Given the description of an element on the screen output the (x, y) to click on. 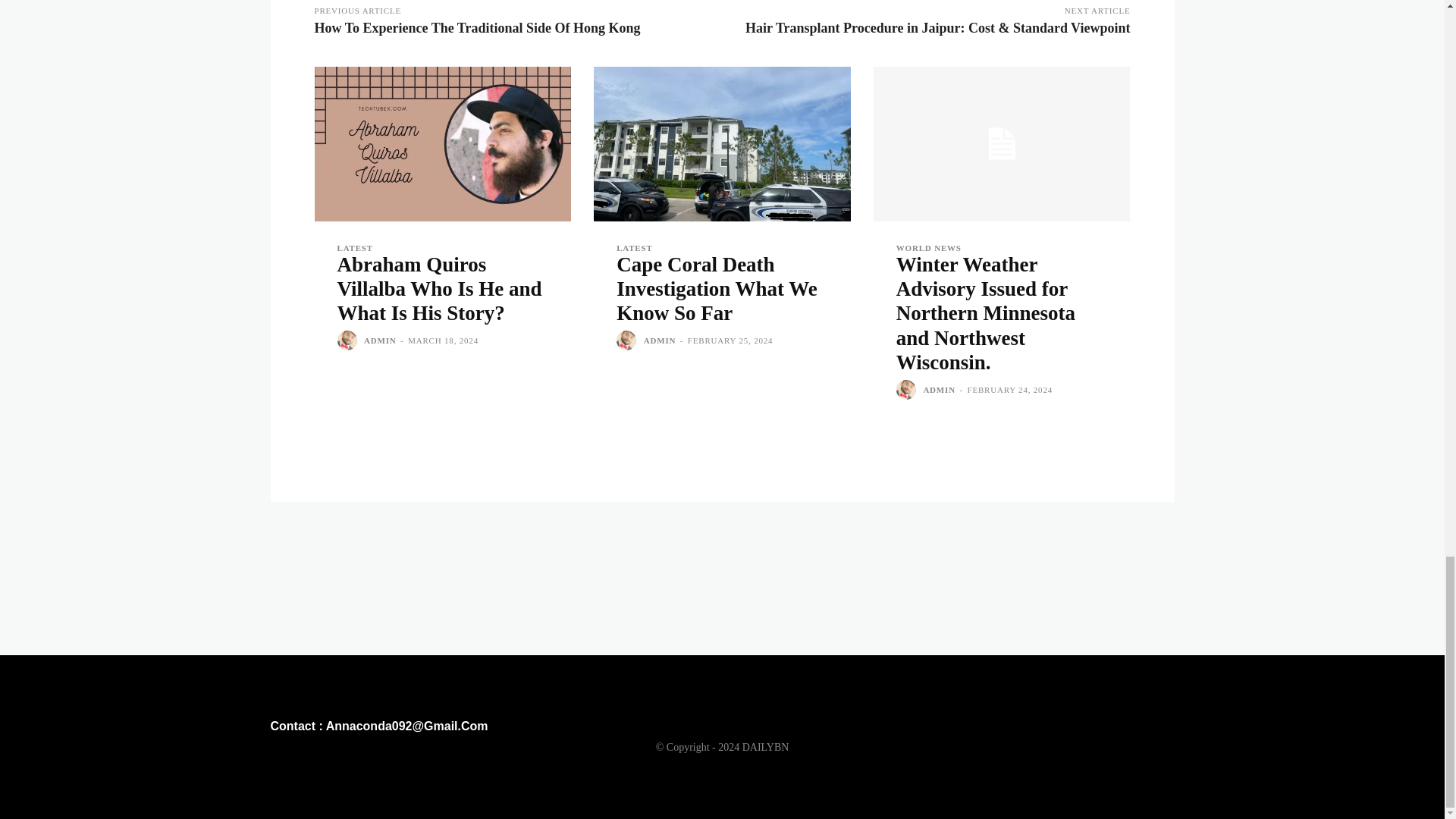
Cape Coral Death Investigation What We Know So Far (722, 143)
Abraham Quiros Villalba Who Is He and What Is His Story? (442, 143)
Cape Coral Death Investigation What We Know So Far (715, 289)
Abraham Quiros Villalba Who Is He and What Is His Story? (438, 289)
